Given the description of an element on the screen output the (x, y) to click on. 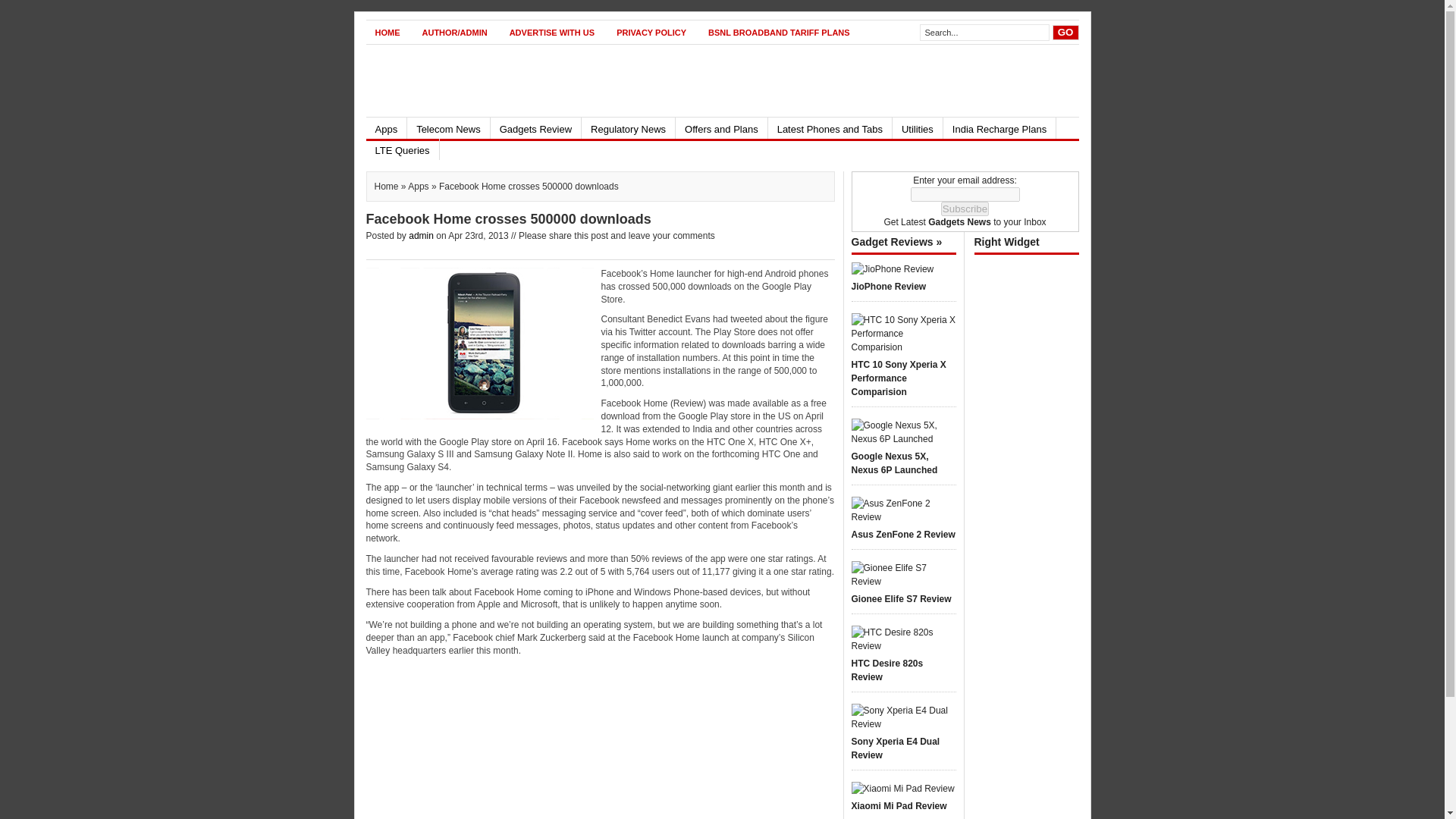
GO (1065, 32)
Subscribe (964, 208)
India Recharge Plans (999, 127)
PRIVACY POLICY (651, 31)
Search... (984, 32)
Facebook-Home (478, 343)
Regulatory News (627, 127)
Posts by admin (421, 235)
Apps (385, 127)
GO (1065, 32)
ADVERTISE WITH US (552, 31)
Latest Phones and Tabs (829, 127)
BSNL BROADBAND TARIFF PLANS (778, 31)
Offers and Plans (721, 127)
GO (1065, 32)
